Given the description of an element on the screen output the (x, y) to click on. 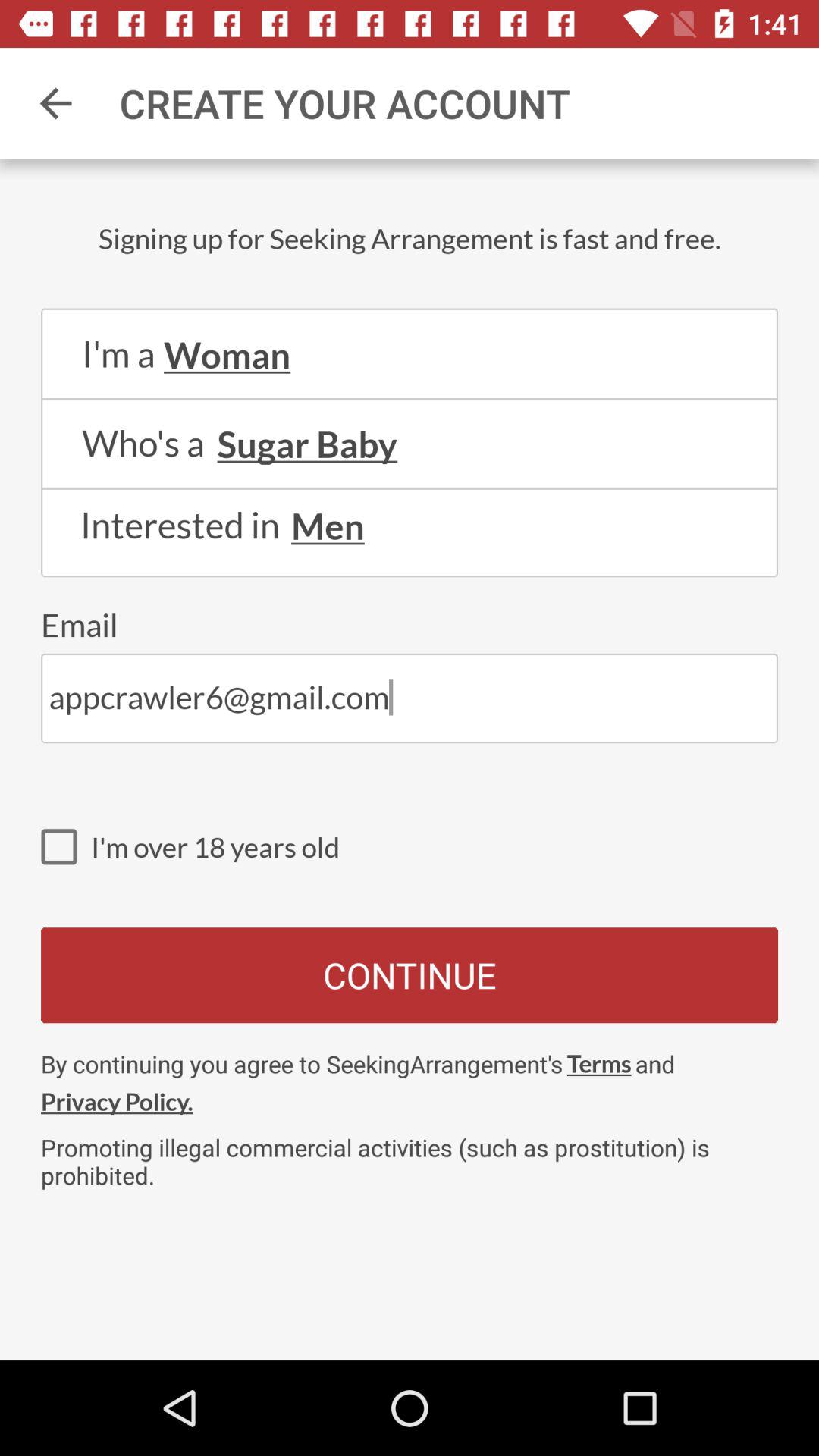
press the by continuing you (301, 1063)
